Given the description of an element on the screen output the (x, y) to click on. 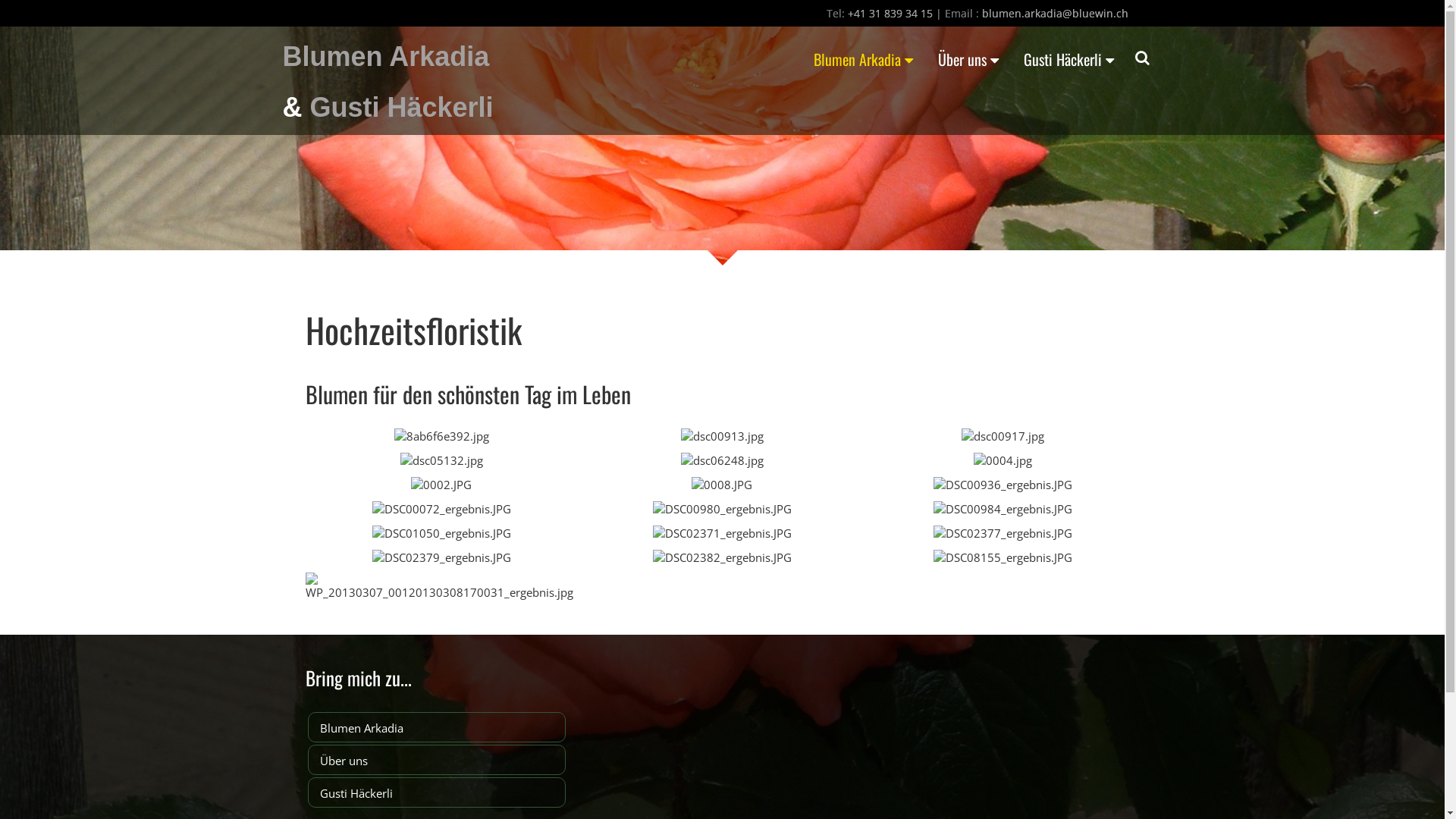
Blumen Arkadia Element type: text (436, 727)
+41 31 839 34 15 Element type: text (889, 13)
blumen.arkadia@bluewin.ch Element type: text (1054, 13)
Blumen Arkadia Element type: text (385, 56)
Blumen Arkadia Element type: text (863, 59)
